Given the description of an element on the screen output the (x, y) to click on. 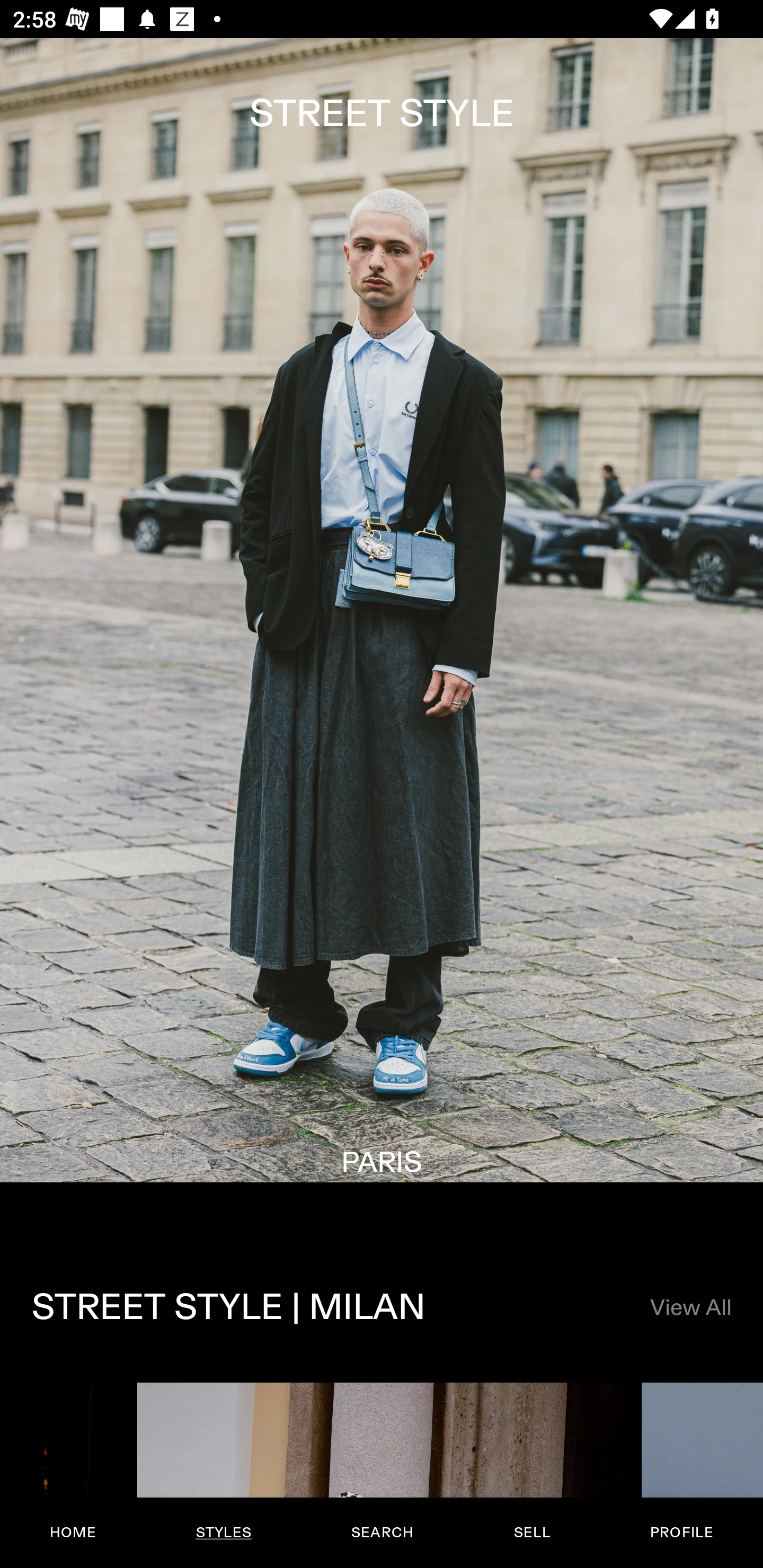
View All (690, 1308)
HOME (72, 1532)
STYLES (222, 1532)
SEARCH (381, 1532)
SELL (531, 1532)
PROFILE (681, 1532)
